Given the description of an element on the screen output the (x, y) to click on. 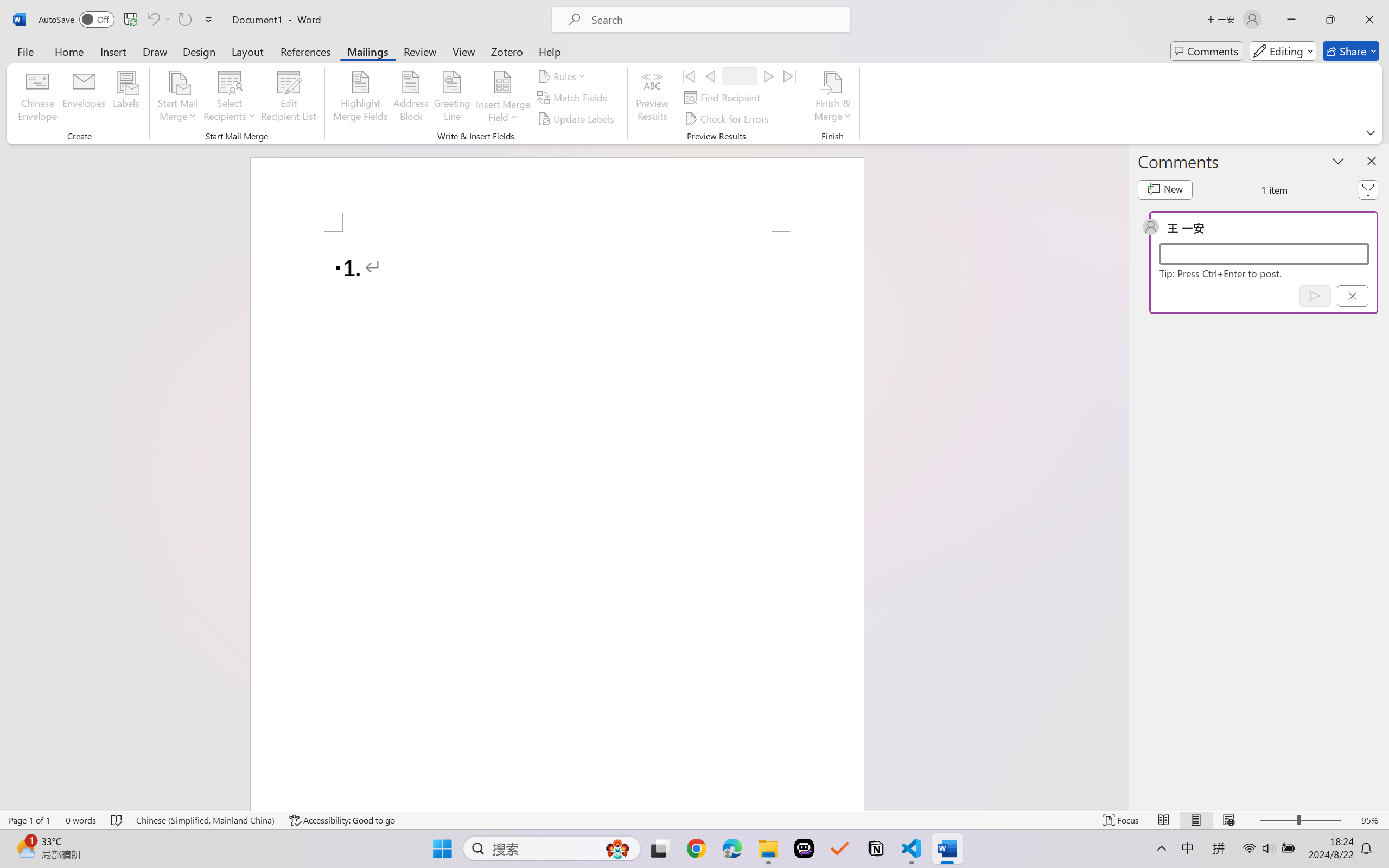
Insert Merge Field (502, 81)
New comment (1165, 189)
